Given the description of an element on the screen output the (x, y) to click on. 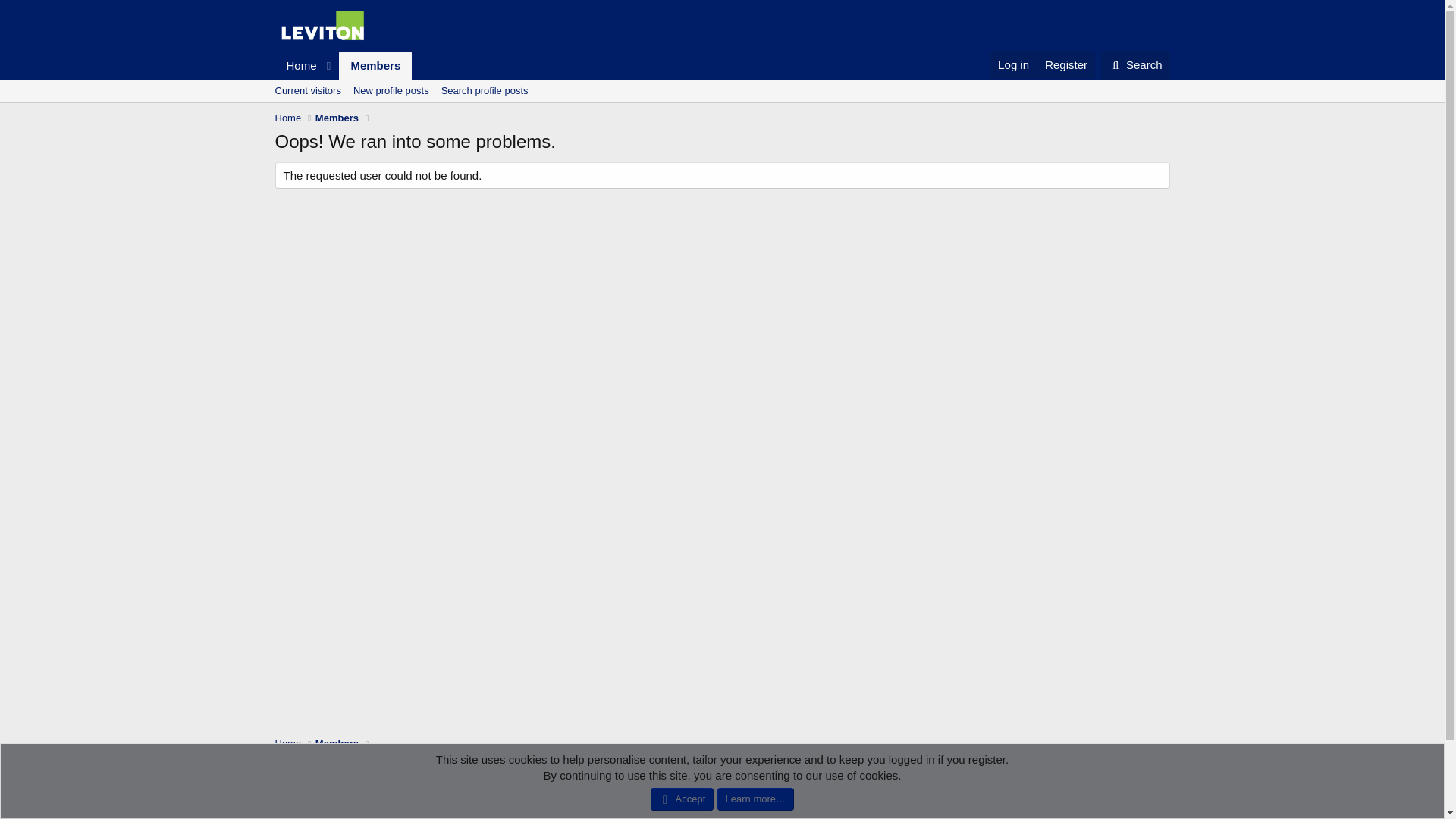
New profile posts (391, 90)
Members (336, 743)
Members (375, 65)
Search profile posts (484, 90)
Search (1135, 64)
Default style (342, 82)
Current visitors (307, 776)
Register (306, 90)
Help (1065, 64)
Search (1096, 776)
Terms and rules (342, 65)
Home (1135, 64)
Accept (969, 776)
